Given the description of an element on the screen output the (x, y) to click on. 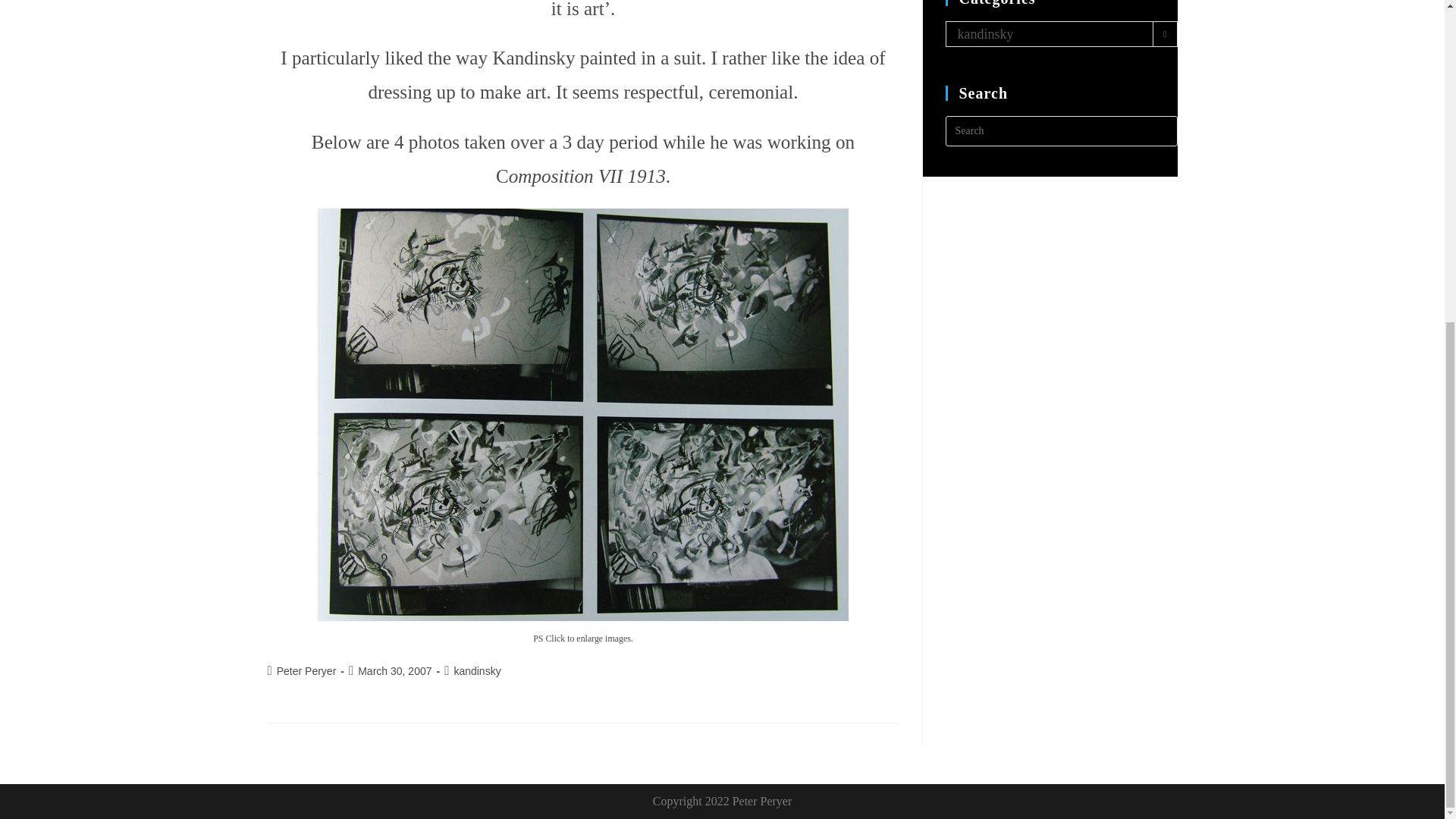
Peter Peryer (306, 671)
kandinsky (476, 671)
Posts by Peter Peryer (306, 671)
